Given the description of an element on the screen output the (x, y) to click on. 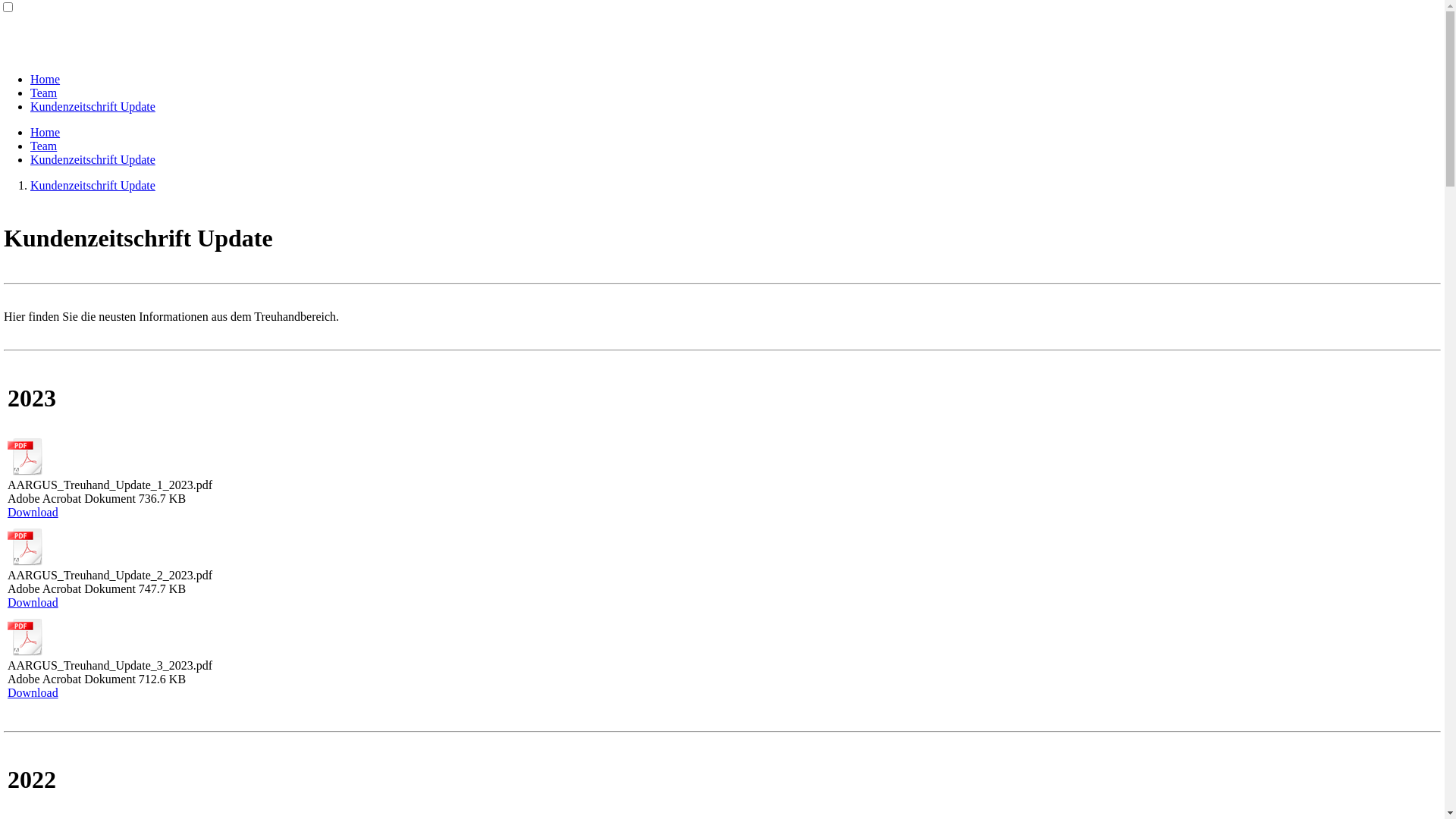
Home Element type: text (44, 78)
Kundenzeitschrift Update Element type: text (92, 106)
Download Element type: text (32, 602)
Team Element type: text (43, 92)
Kundenzeitschrift Update Element type: text (92, 159)
Kundenzeitschrift Update Element type: text (92, 184)
Home Element type: text (44, 131)
Download Element type: text (32, 692)
Team Element type: text (43, 145)
Download Element type: text (32, 511)
